Given the description of an element on the screen output the (x, y) to click on. 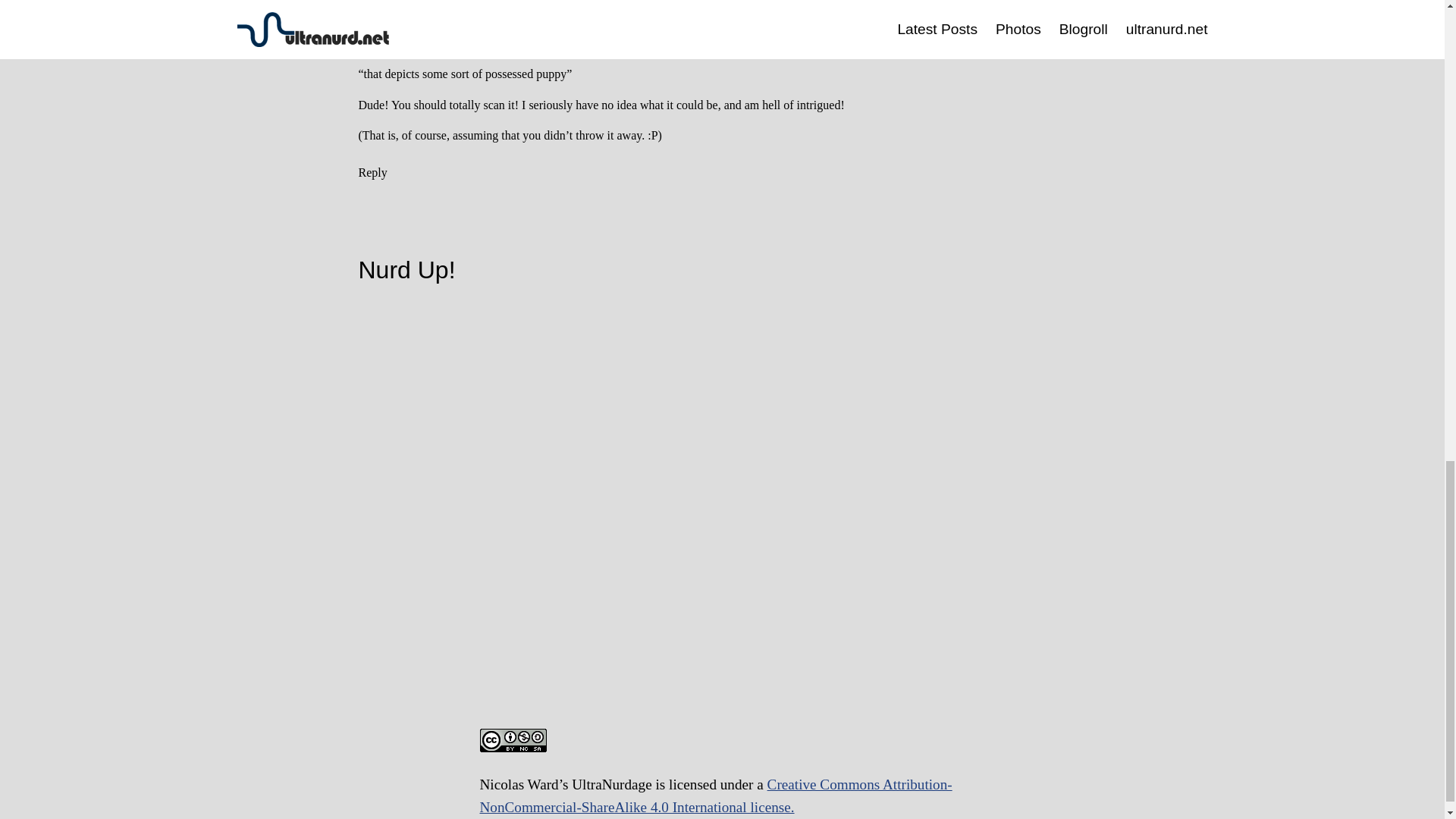
2005.04.25 (541, 36)
Reply (372, 172)
llamaontheloose (554, 17)
